Given the description of an element on the screen output the (x, y) to click on. 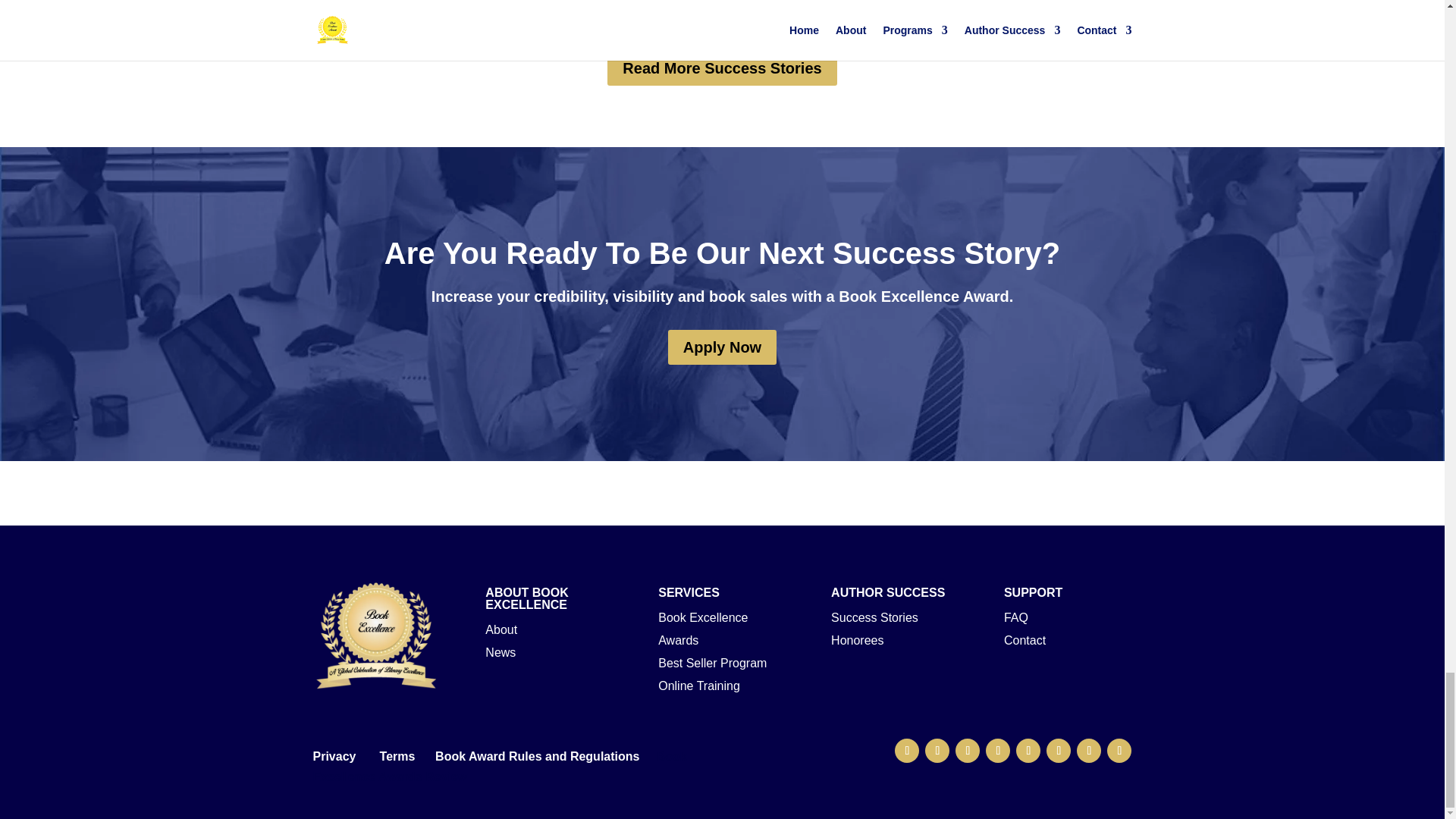
Follow on Instagram (967, 750)
Follow on Facebook (906, 750)
Follow on X (936, 750)
Follow on Youtube (997, 750)
Follow on LinkedIn (1058, 750)
Book Excellence Logo (376, 635)
Follow on Pinterest (1028, 750)
